Given the description of an element on the screen output the (x, y) to click on. 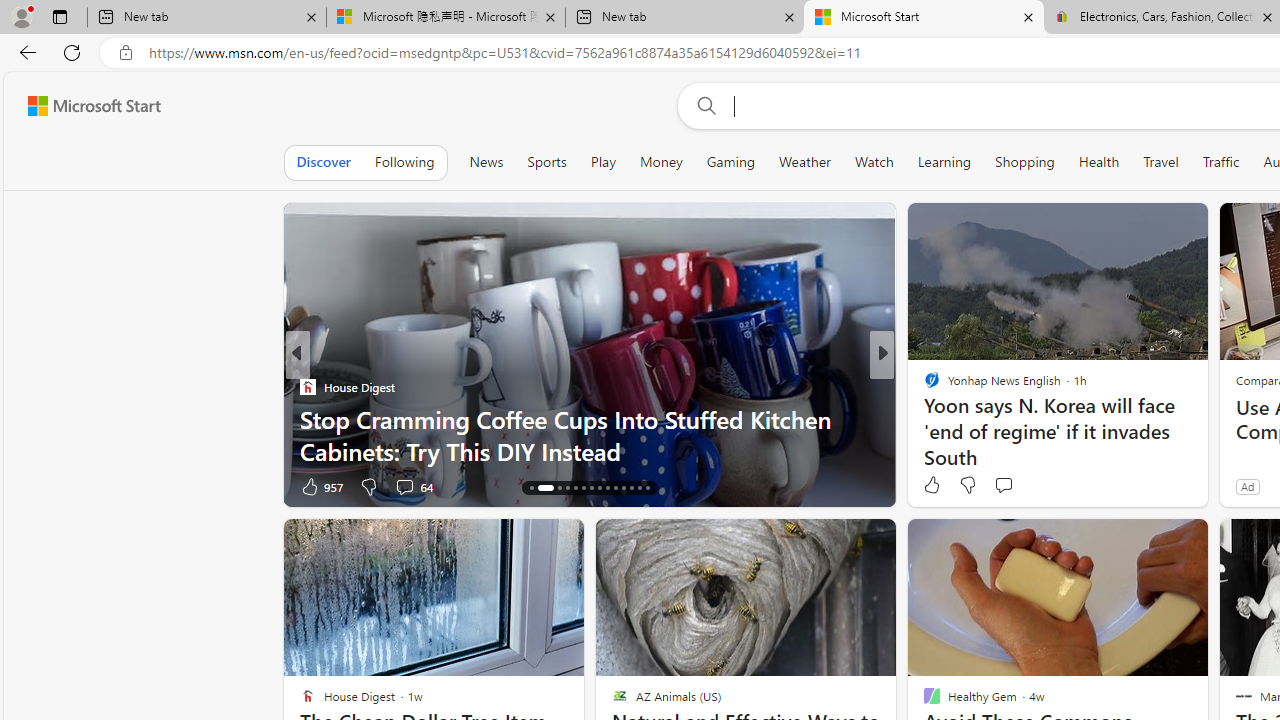
Popular Mechanics (923, 386)
11 Like (934, 486)
View comments 37 Comment (1021, 486)
461 Like (936, 486)
View comments 4 Comment (1014, 485)
View comments 13 Comment (1022, 486)
AutomationID: tab-17 (559, 487)
AutomationID: tab-22 (599, 487)
